Given the description of an element on the screen output the (x, y) to click on. 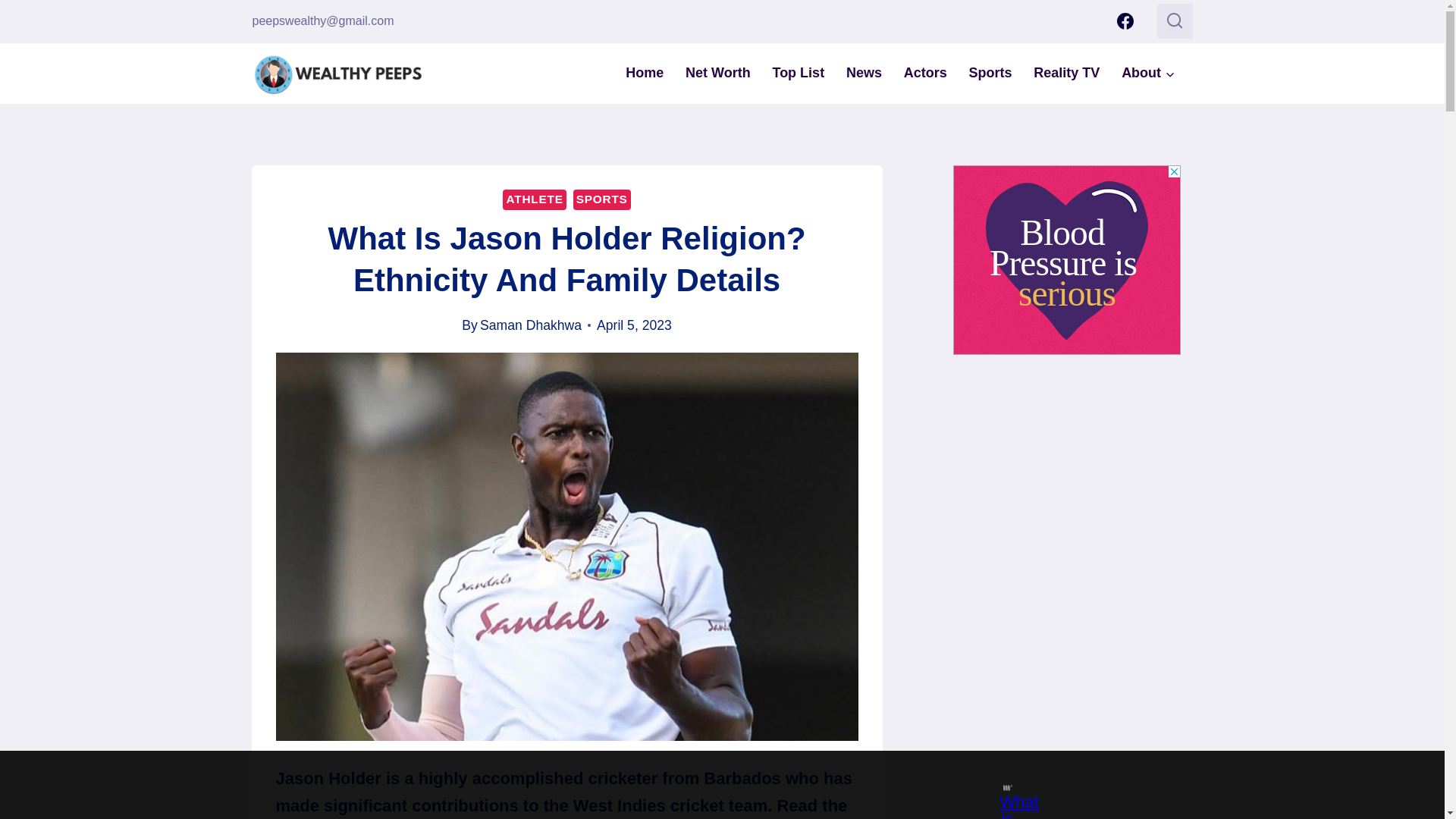
3rd party ad content (708, 785)
Top List (797, 72)
Sports (990, 72)
About (1148, 72)
Saman Dhakhwa (530, 324)
News (864, 72)
ATHLETE (534, 199)
3rd party ad content (1066, 259)
Net Worth (718, 72)
Home (644, 72)
SPORTS (601, 199)
Reality TV (1066, 72)
Actors (925, 72)
